Given the description of an element on the screen output the (x, y) to click on. 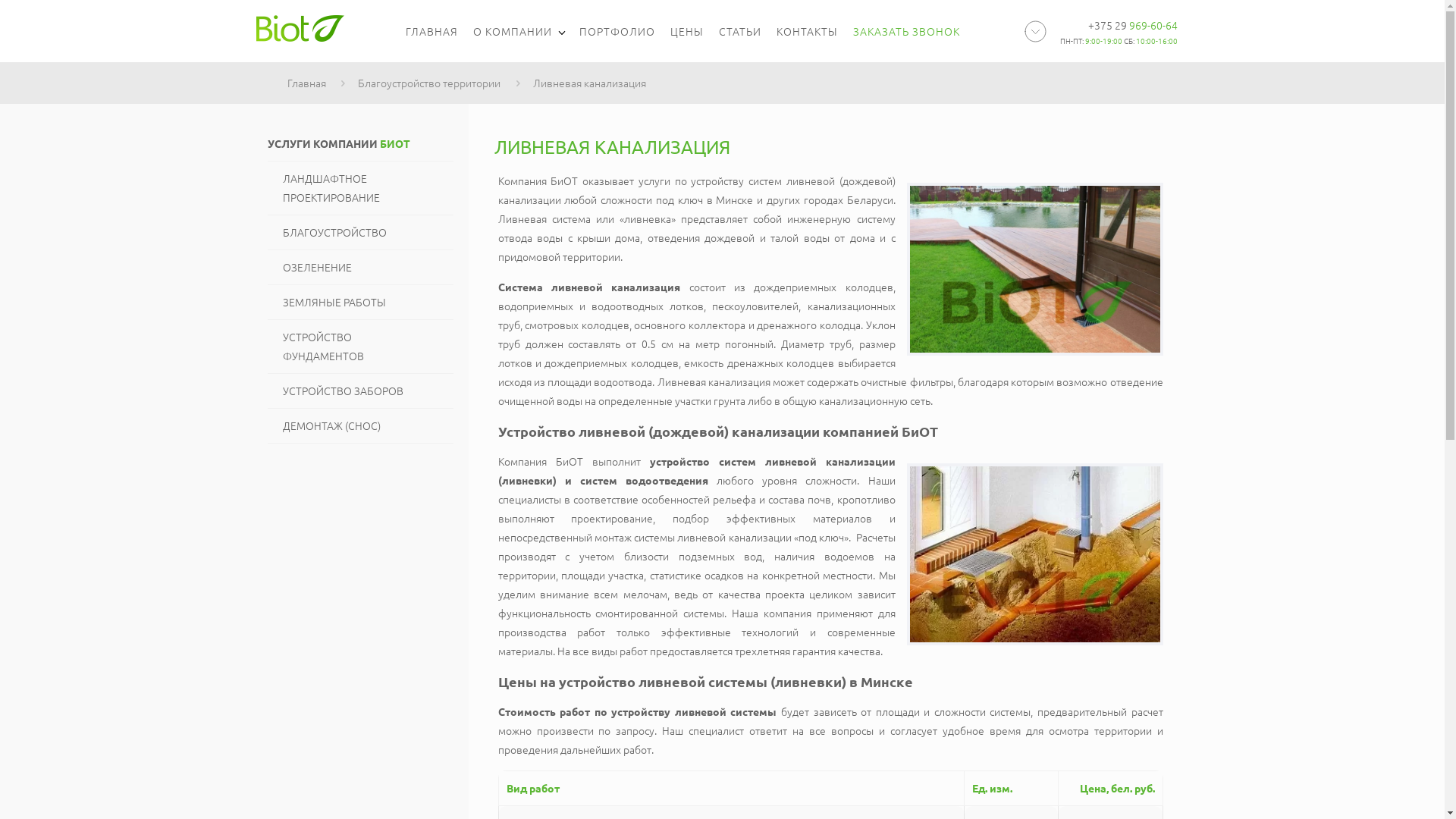
+375 29 969-60-64 Element type: text (1131, 24)
